Given the description of an element on the screen output the (x, y) to click on. 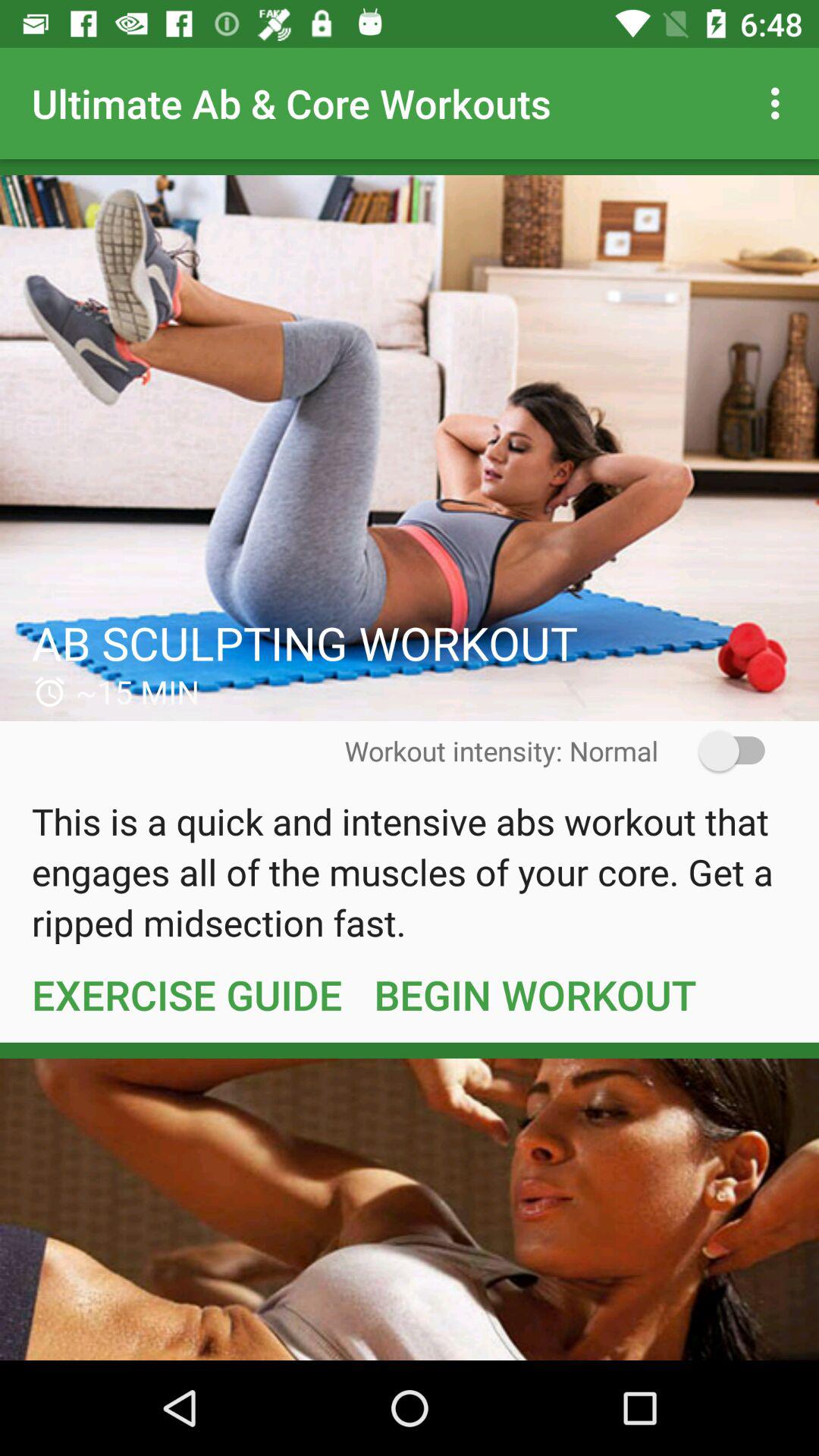
open article (409, 448)
